Given the description of an element on the screen output the (x, y) to click on. 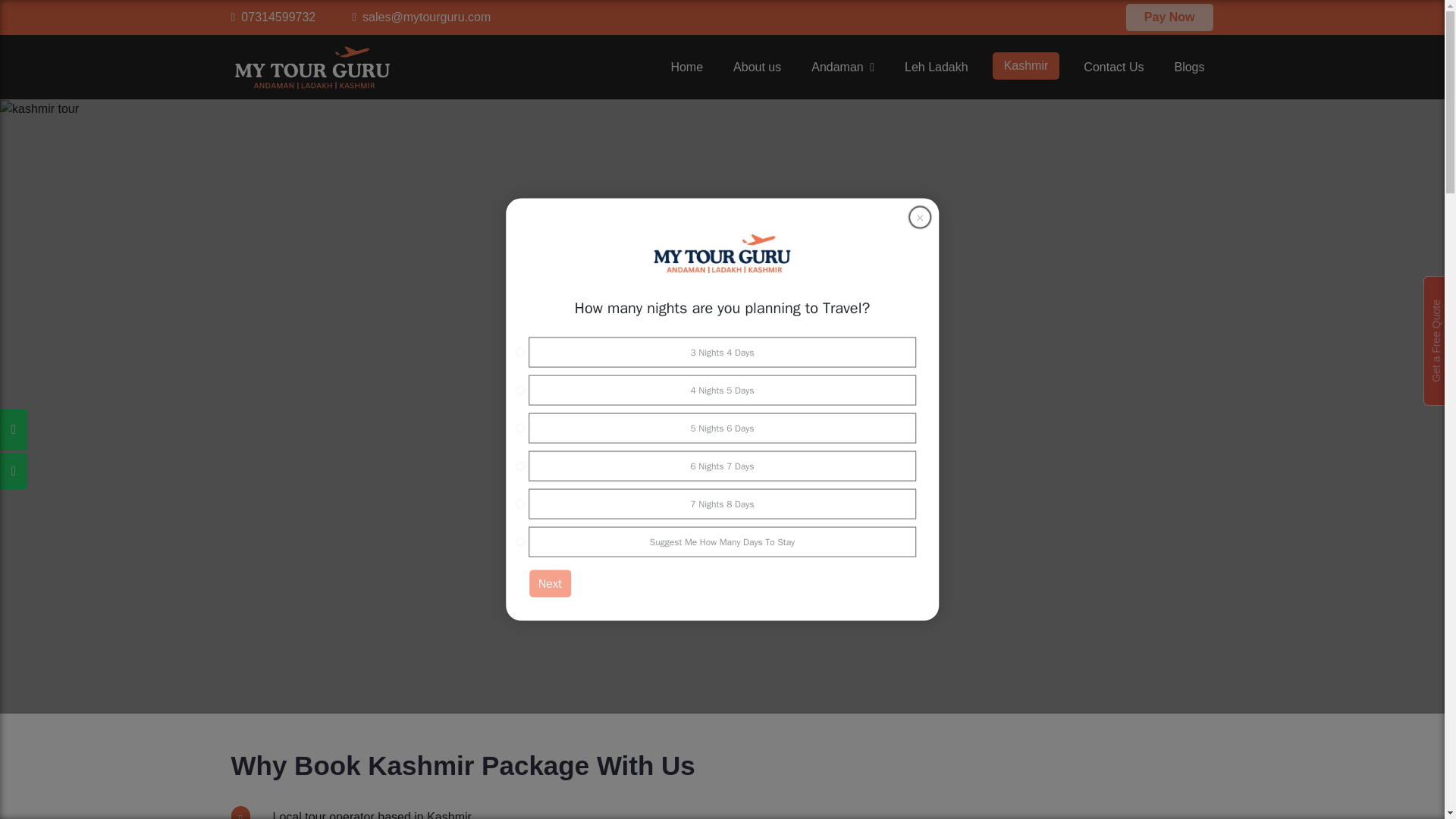
4 Nights 5 Days (519, 388)
About us (756, 67)
7 Nights 8 Days (519, 502)
Blogs (1188, 67)
Home (686, 67)
Pay Now (1169, 17)
Suggest Me How Many Days To Stay (519, 541)
Andaman (842, 67)
Pay Now (1169, 15)
Contact Us (1113, 67)
Leh Ladakh (936, 67)
6 Nights 7 Days (519, 465)
3 Nights 4 Days (519, 351)
Kashmir (1025, 65)
5 Nights 6 Days (519, 427)
